Given the description of an element on the screen output the (x, y) to click on. 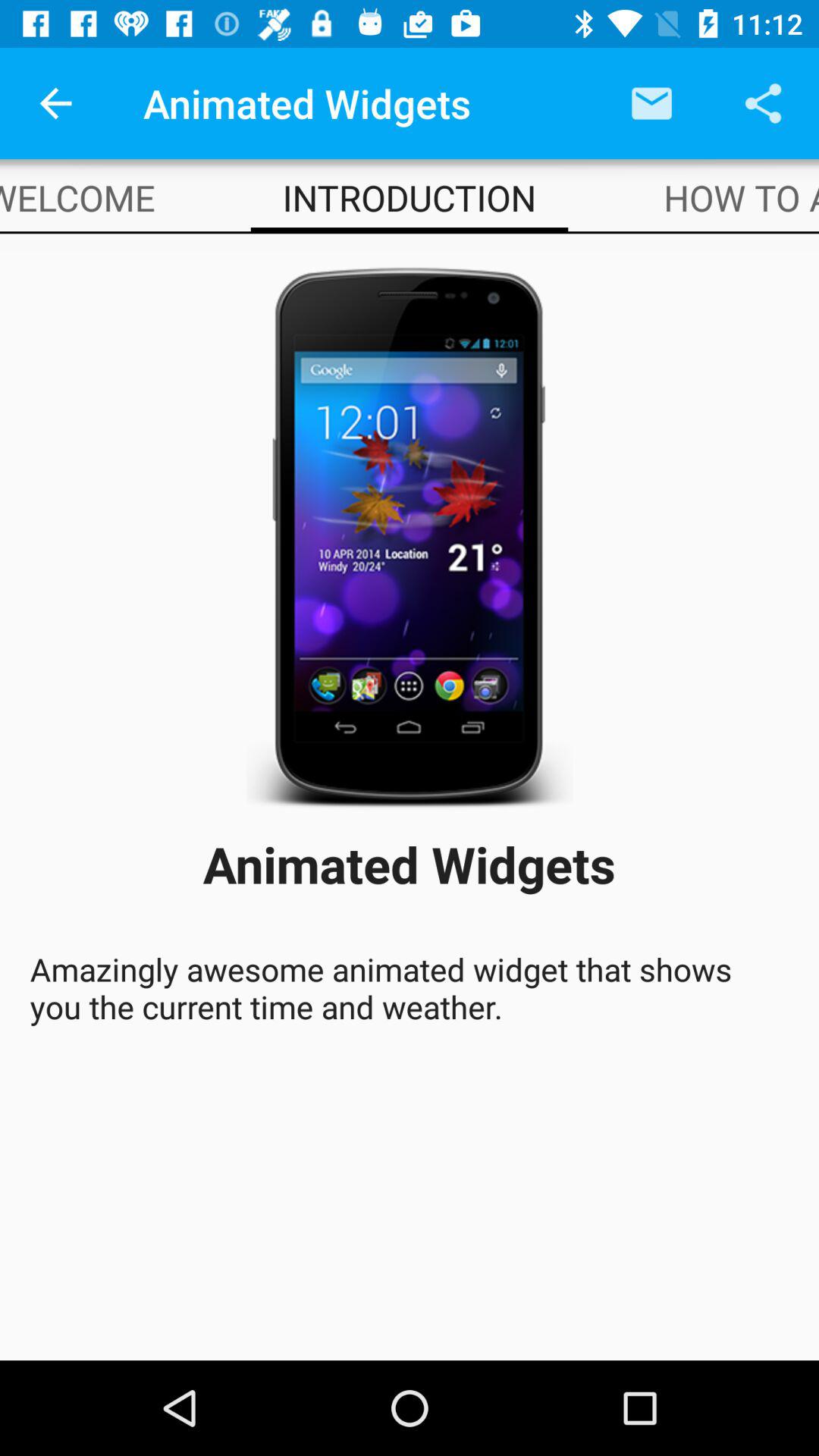
turn off icon next to animated widgets icon (55, 103)
